Given the description of an element on the screen output the (x, y) to click on. 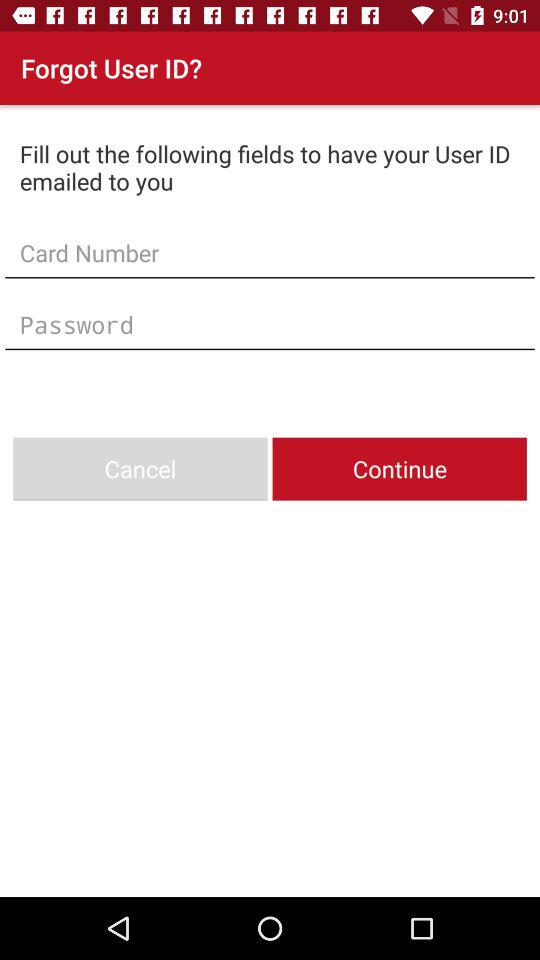
turn on icon above cancel (270, 324)
